Given the description of an element on the screen output the (x, y) to click on. 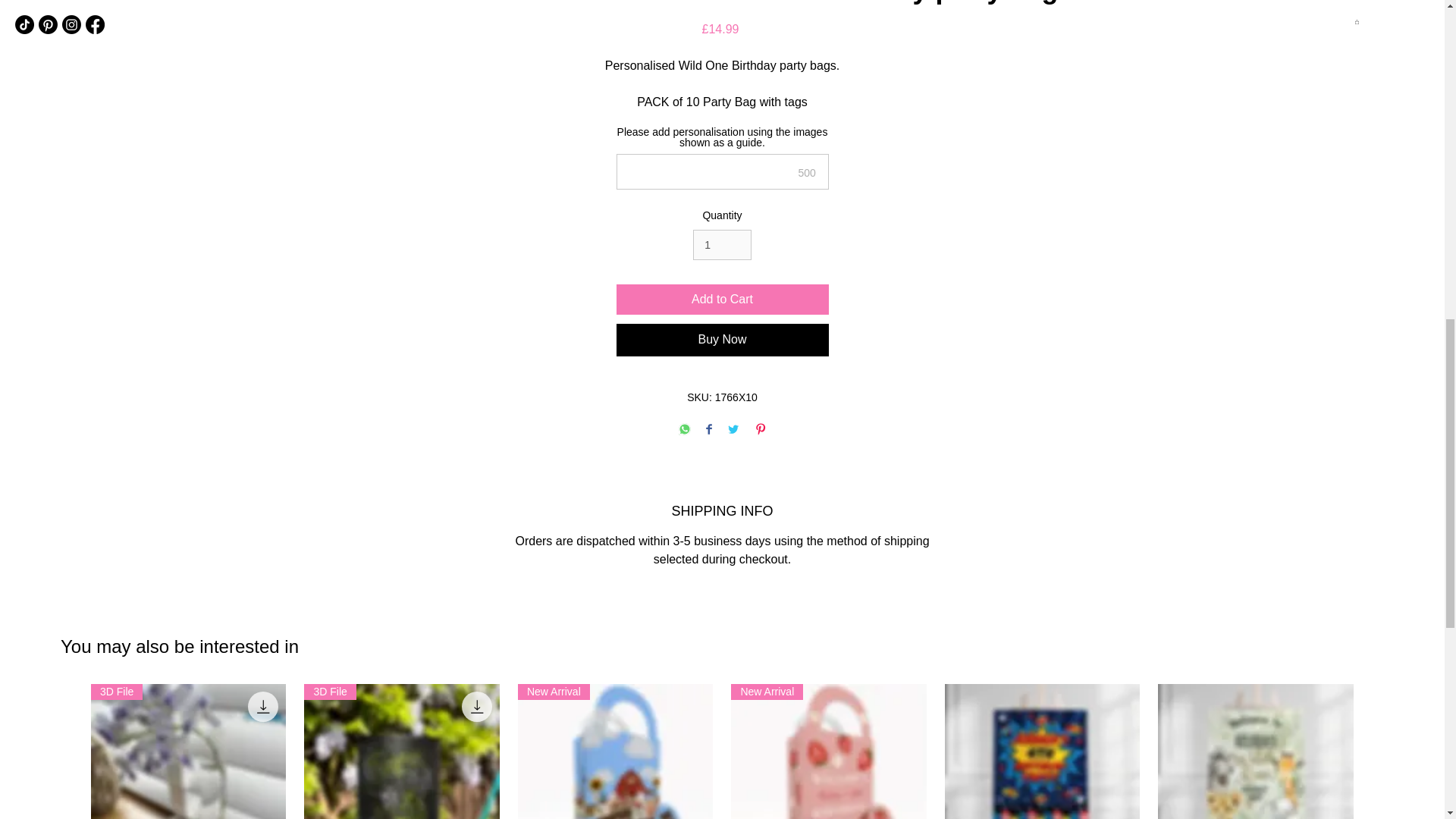
Add to Cart (721, 299)
1 (722, 245)
Buy Now (721, 339)
